Given the description of an element on the screen output the (x, y) to click on. 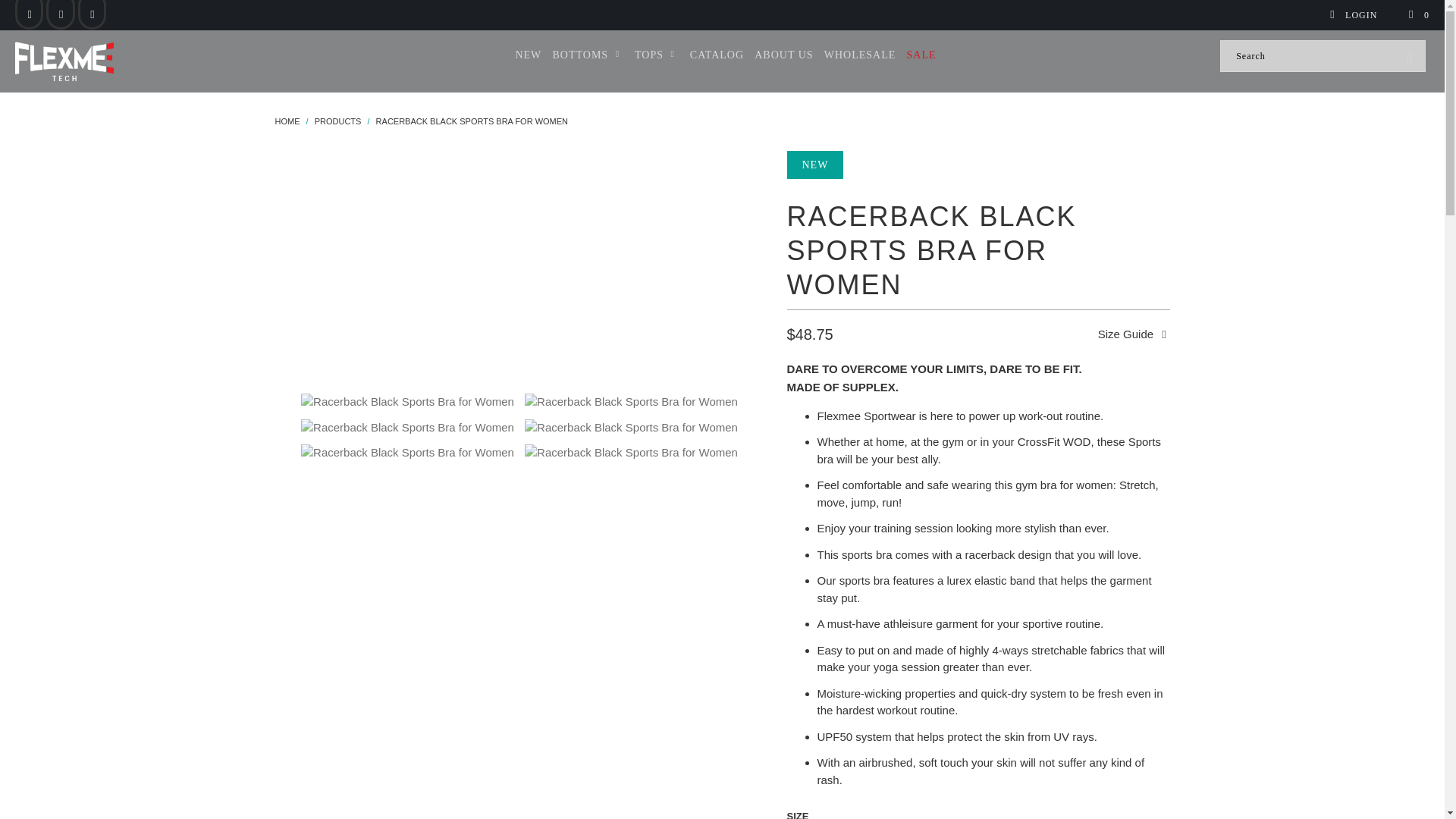
Email Flexmee US (92, 14)
Flexmee US on Facebook (28, 14)
NEW (528, 54)
TOPS (656, 54)
Flexmee US on Instagram (59, 14)
WHOLESALE (860, 54)
Flexmee US (122, 61)
SALE (921, 54)
My Account  (1352, 15)
Flexmee US (287, 121)
Products (337, 121)
ABOUT US (783, 54)
BOTTOMS (587, 54)
LOGIN (1352, 15)
CATALOG (717, 54)
